Given the description of an element on the screen output the (x, y) to click on. 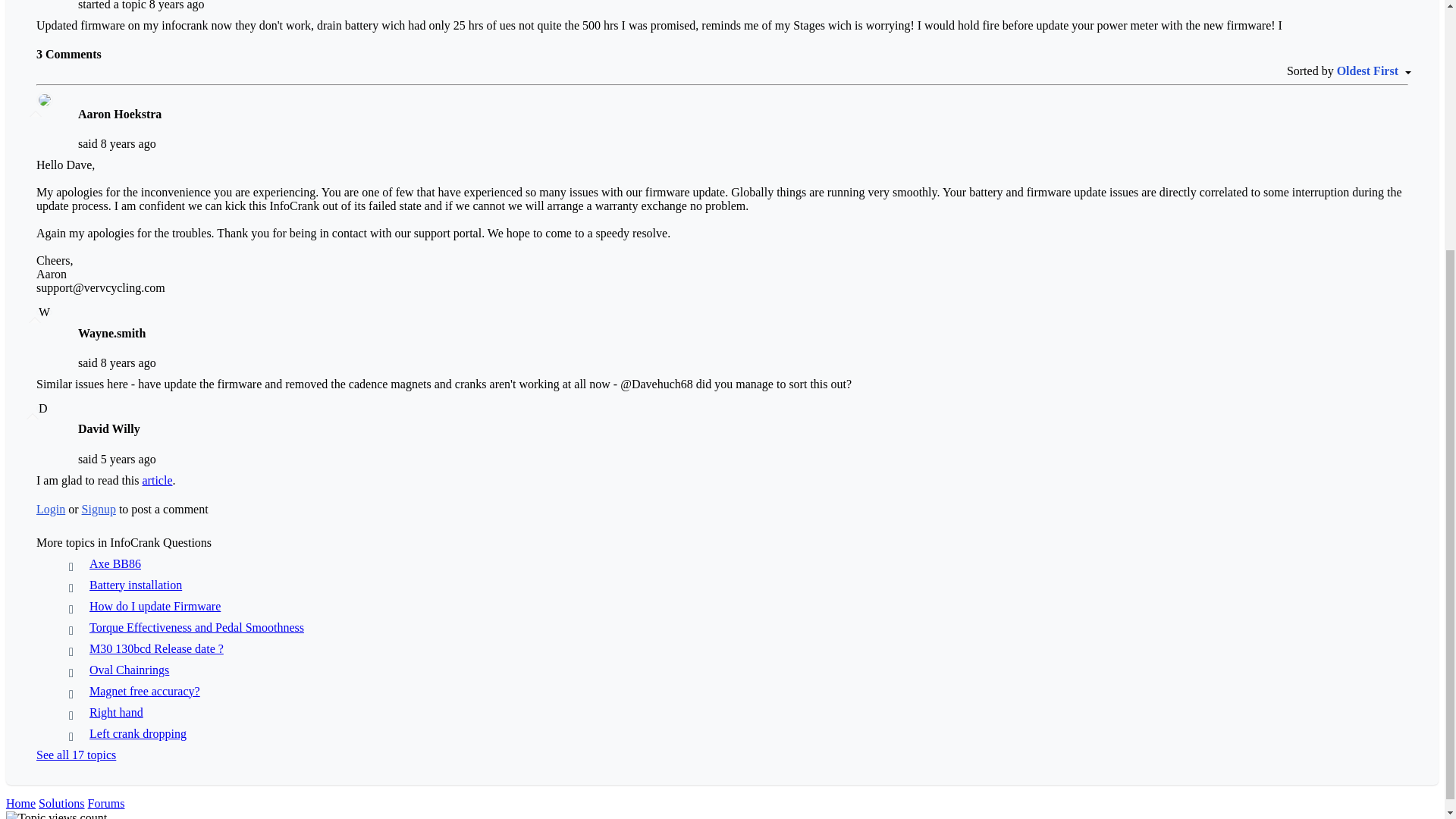
Home (19, 802)
Torque Effectiveness and Pedal Smoothness (196, 626)
article (157, 479)
See all 17 topics (76, 753)
Login (50, 508)
Battery installation (135, 584)
Thu, 7 Apr, 2016 at  6:14 PM (177, 5)
Wed, 29 May, 2019 at 10:58 AM (127, 458)
Signup (98, 508)
Right hand (115, 711)
See all 17 topics (76, 753)
Sun, 29 May, 2016 at  7:52 AM (127, 362)
Left crank dropping (137, 732)
Solutions (61, 802)
Oldest First (1371, 70)
